Given the description of an element on the screen output the (x, y) to click on. 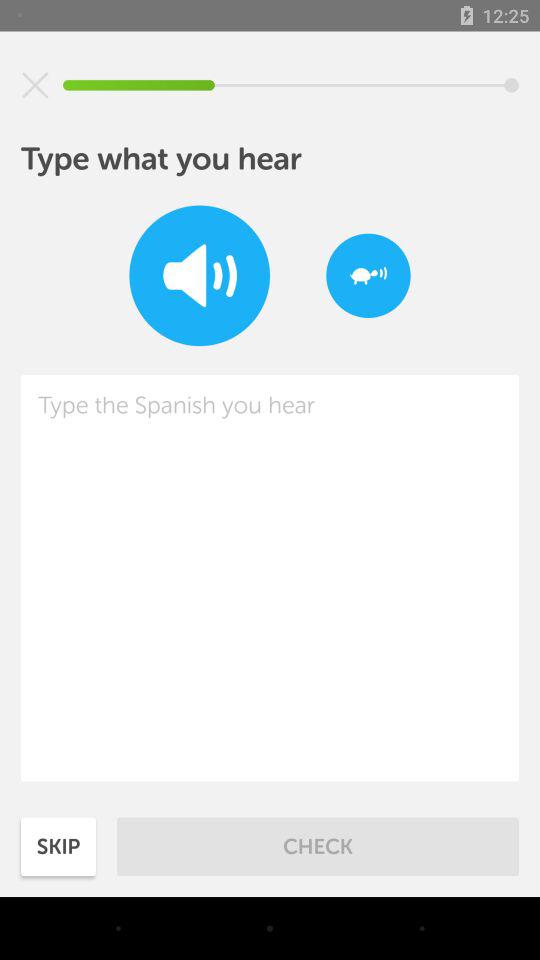
swipe until the skip (58, 846)
